Given the description of an element on the screen output the (x, y) to click on. 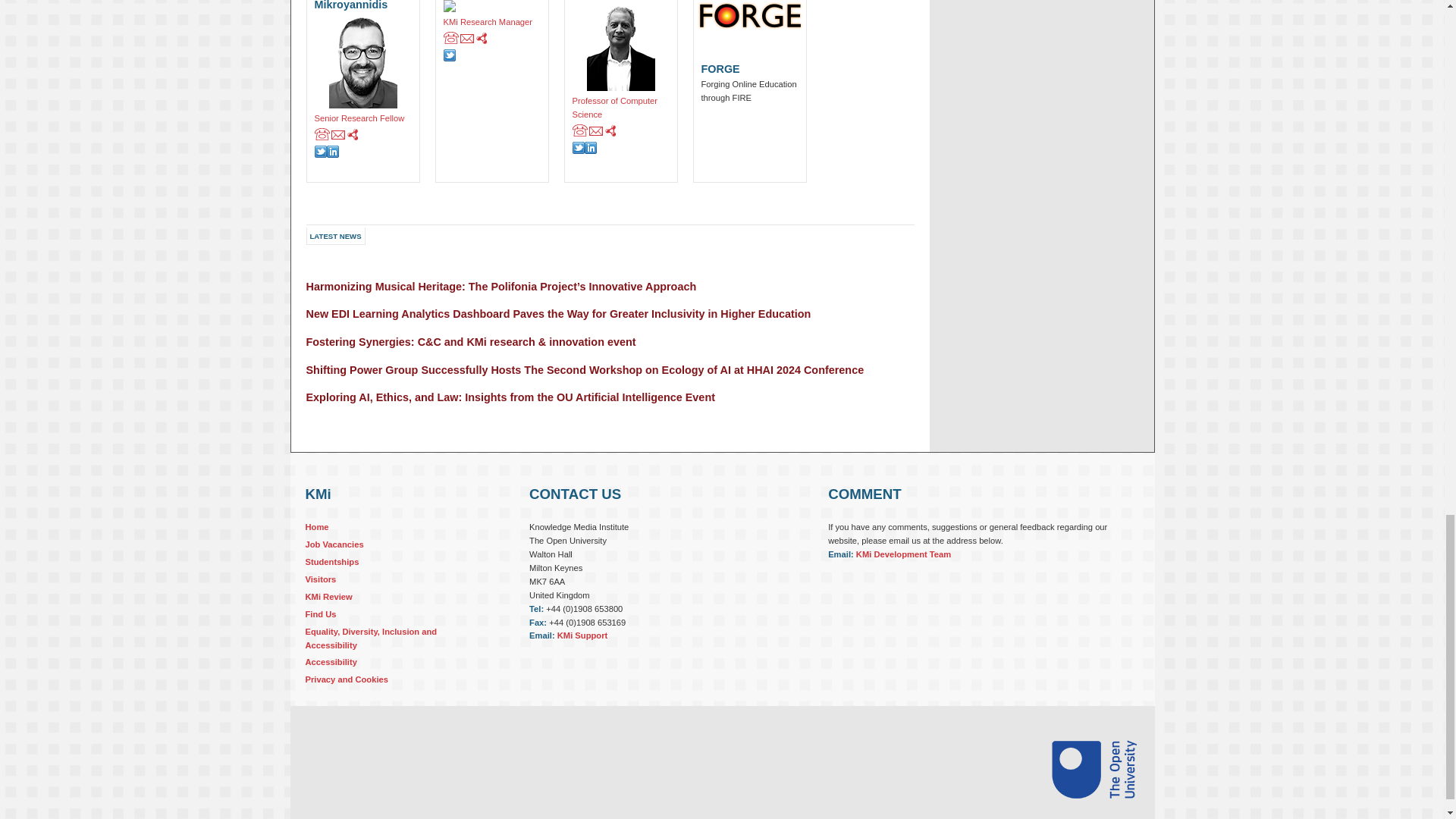
Professor of Computer Science (620, 116)
Senior Research Fellow (362, 127)
Aneta Tumilowicz (491, 7)
KMi Research Manager (491, 30)
John Domingue (620, 47)
